Given the description of an element on the screen output the (x, y) to click on. 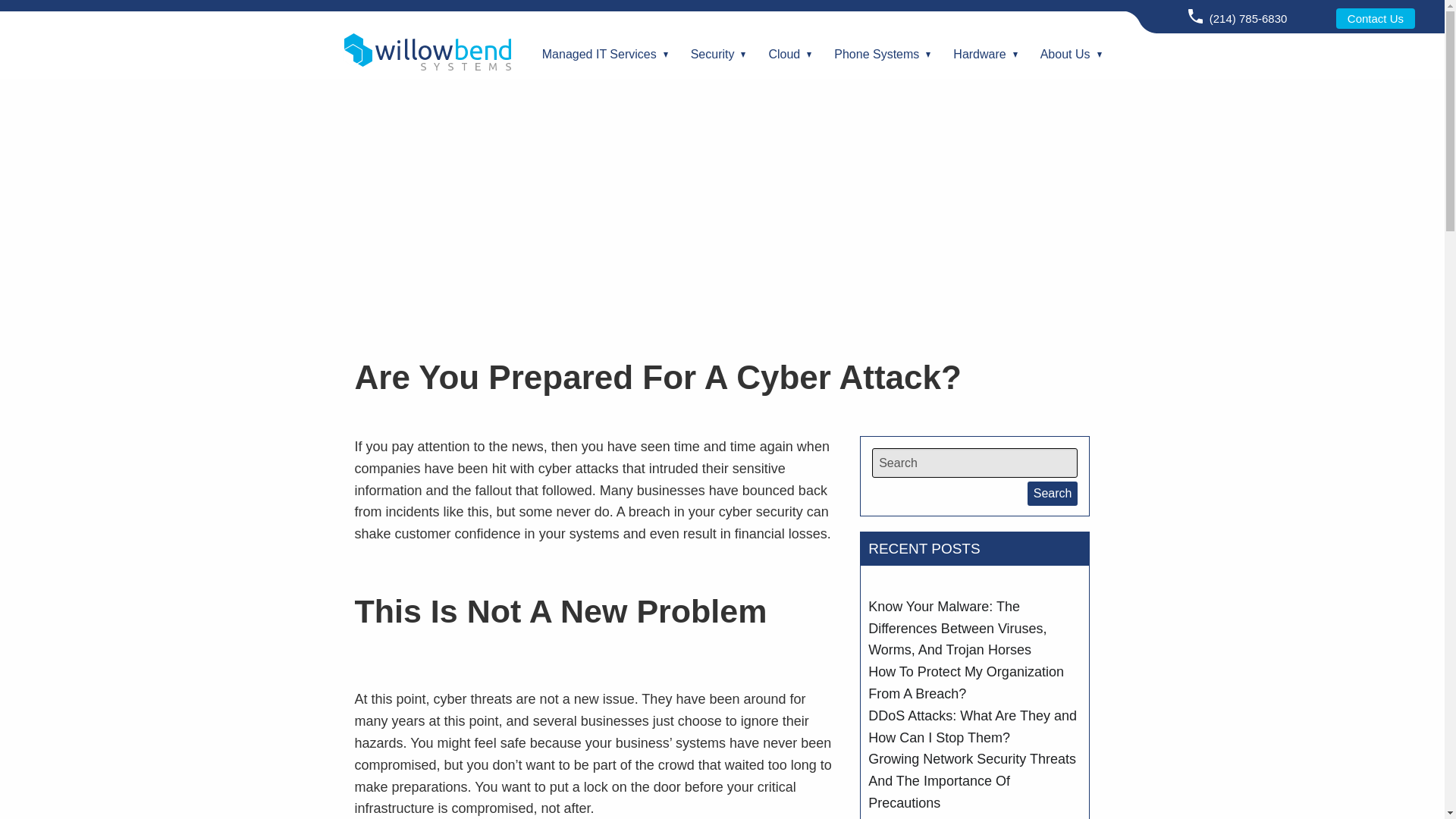
About Us (1065, 54)
Hardware (979, 54)
Managed IT Services (599, 54)
Cloud (783, 54)
Security (712, 54)
Willow Bend Systems (426, 51)
Phone Systems (876, 54)
